Given the description of an element on the screen output the (x, y) to click on. 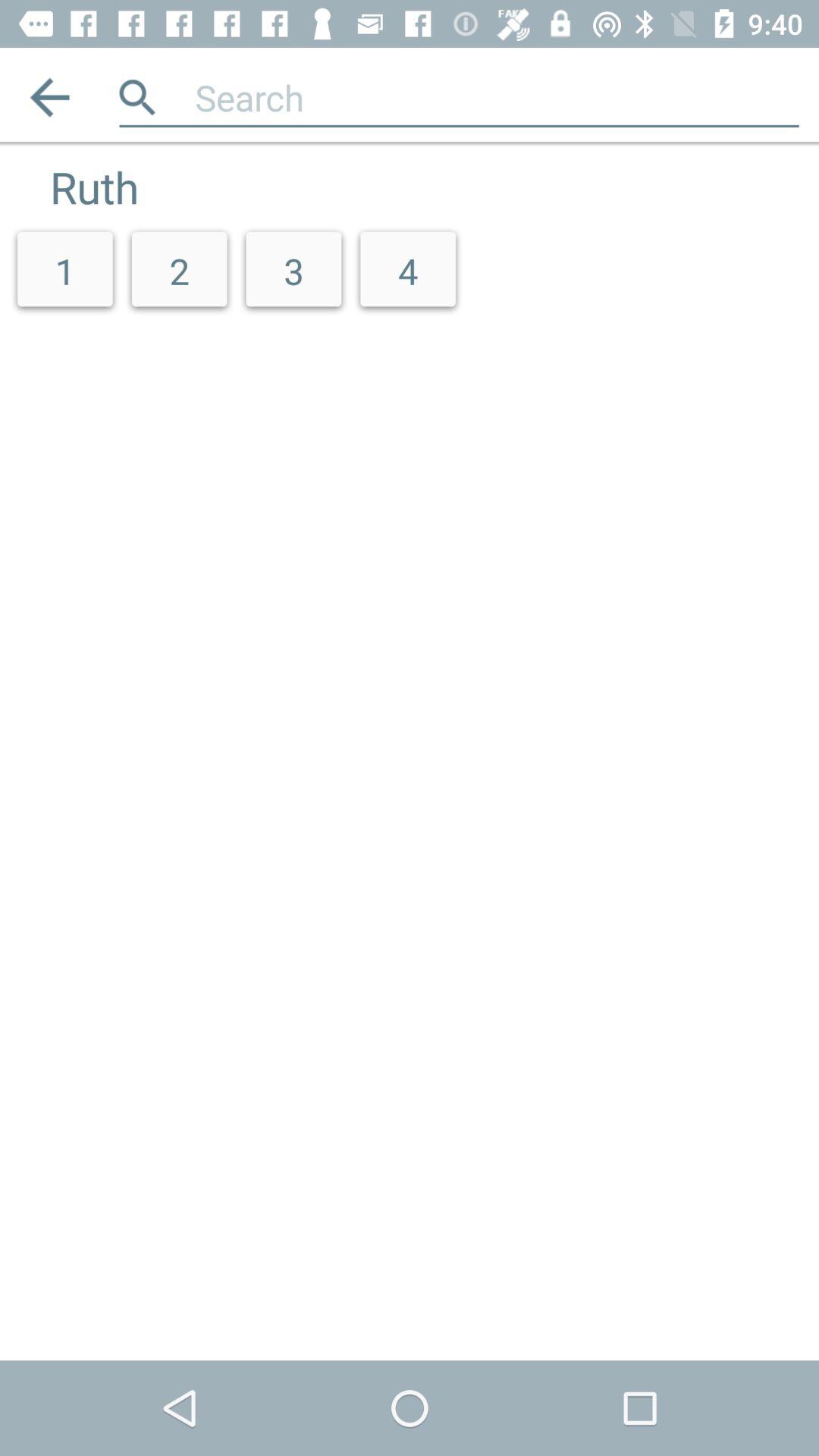
turn off app above the 2 icon (497, 97)
